Given the description of an element on the screen output the (x, y) to click on. 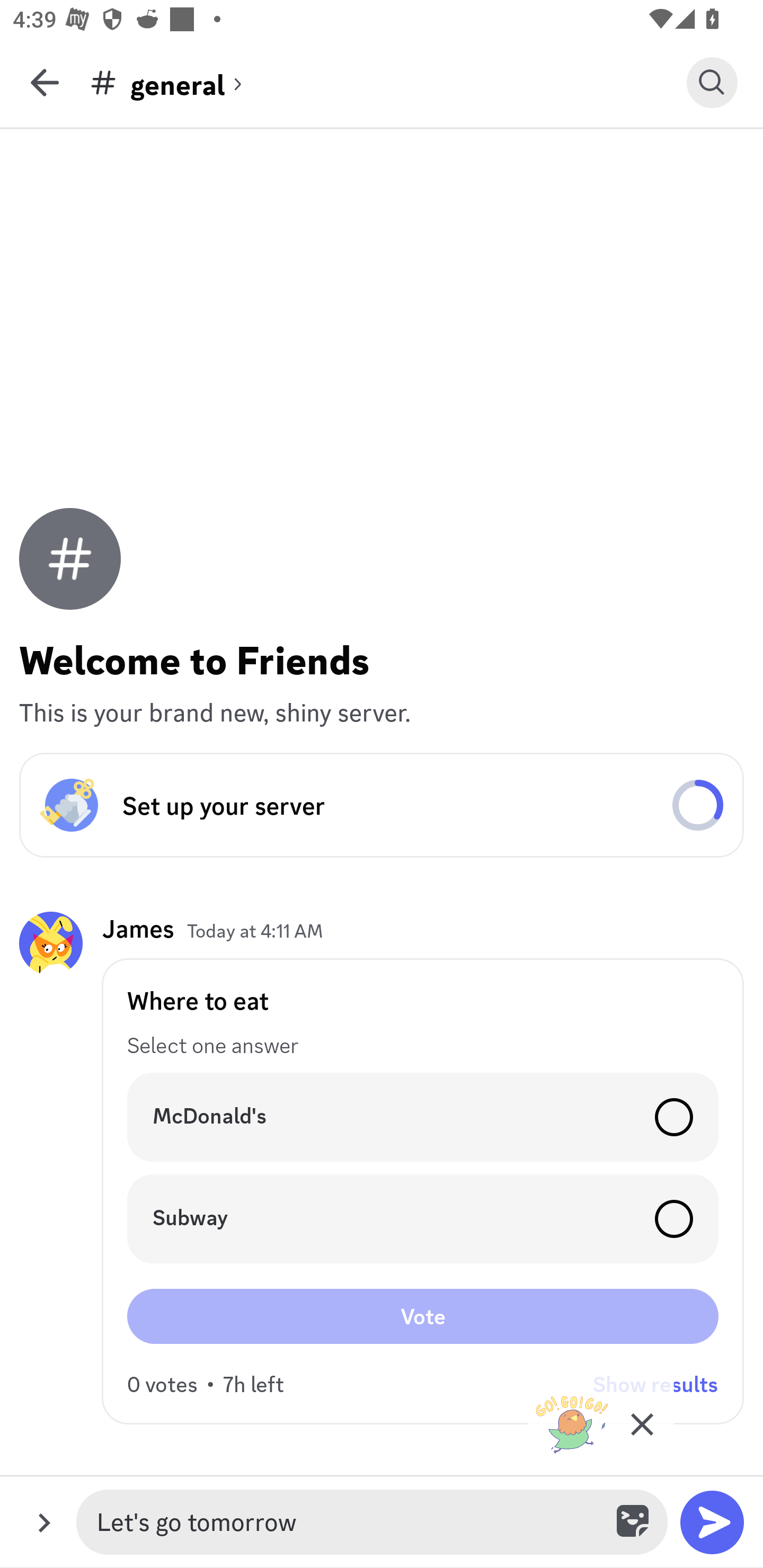
general (channel) general general (channel) (387, 82)
Back (44, 82)
Search (711, 82)
Set up your server (381, 804)
James (137, 928)
McDonald's (422, 1116)
Subway (422, 1218)
Vote (422, 1315)
0 votes  •  7h left (205, 1383)
Show results (655, 1383)
Let's go tomorrow Toggle emoji keyboard (371, 1522)
More (44, 1522)
Send (711, 1522)
Toggle emoji keyboard (634, 1522)
